Given the description of an element on the screen output the (x, y) to click on. 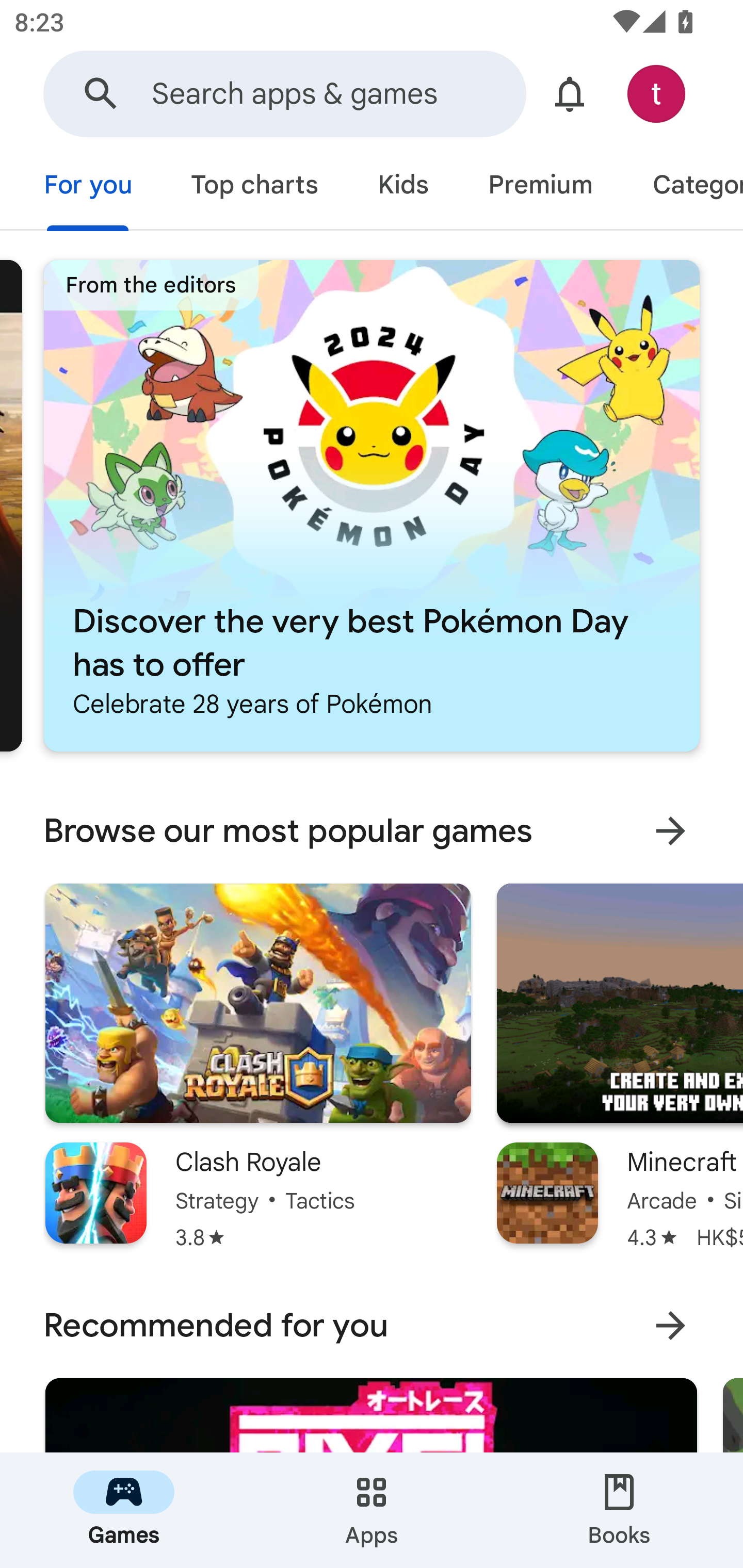
Search Google Play Search apps & games (284, 93)
Search Google Play (100, 93)
Show notifications and offers. (569, 93)
Top charts (254, 187)
Kids (402, 187)
Premium (540, 187)
Categories (682, 187)
More results for Browse our most popular games (670, 830)
Clash Royale
Strategy
Tactics
Star rating: 3.8
 (258, 1066)
More results for Recommended for you (670, 1325)
Apps (371, 1509)
Books (619, 1509)
